Given the description of an element on the screen output the (x, y) to click on. 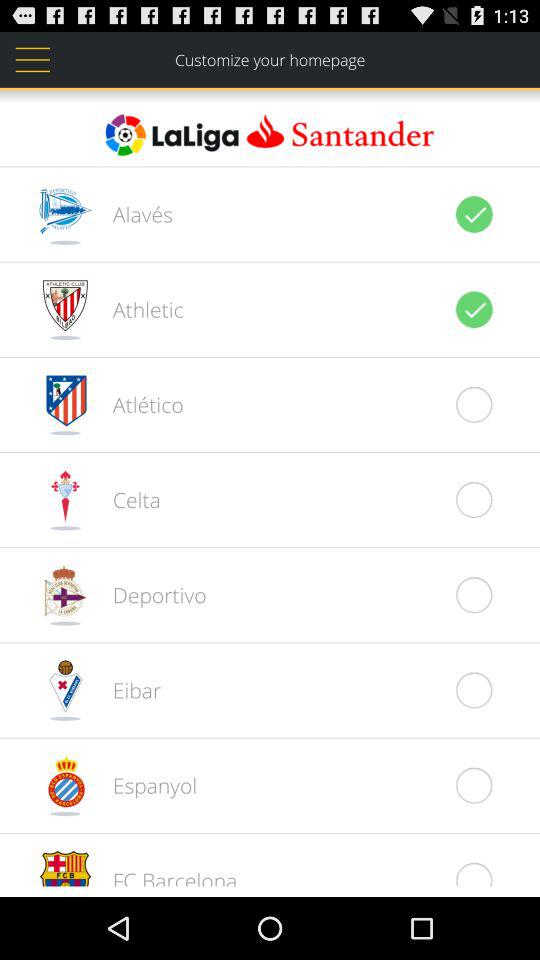
jump until the espanyol item (144, 785)
